Given the description of an element on the screen output the (x, y) to click on. 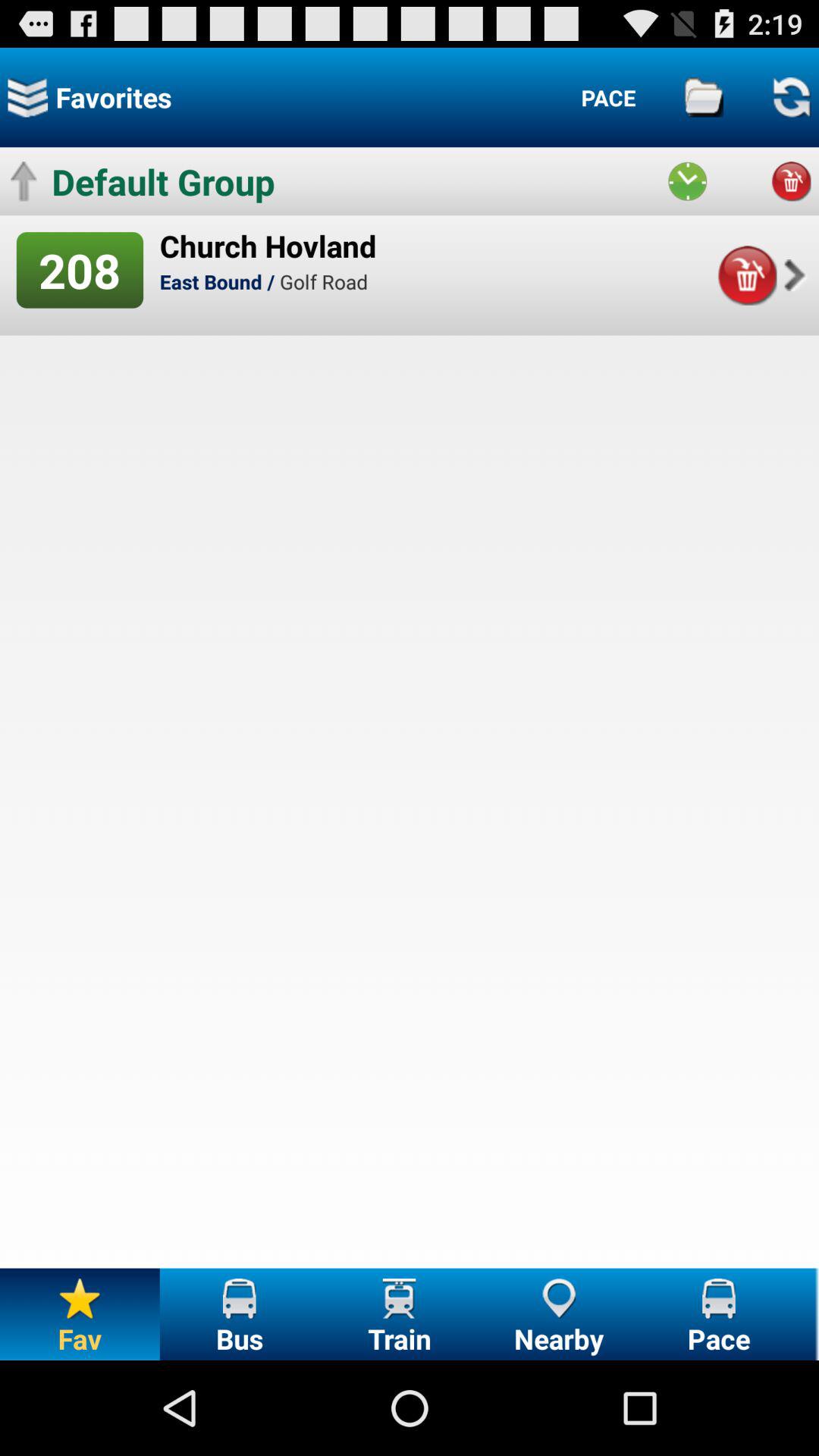
delete (791, 181)
